Given the description of an element on the screen output the (x, y) to click on. 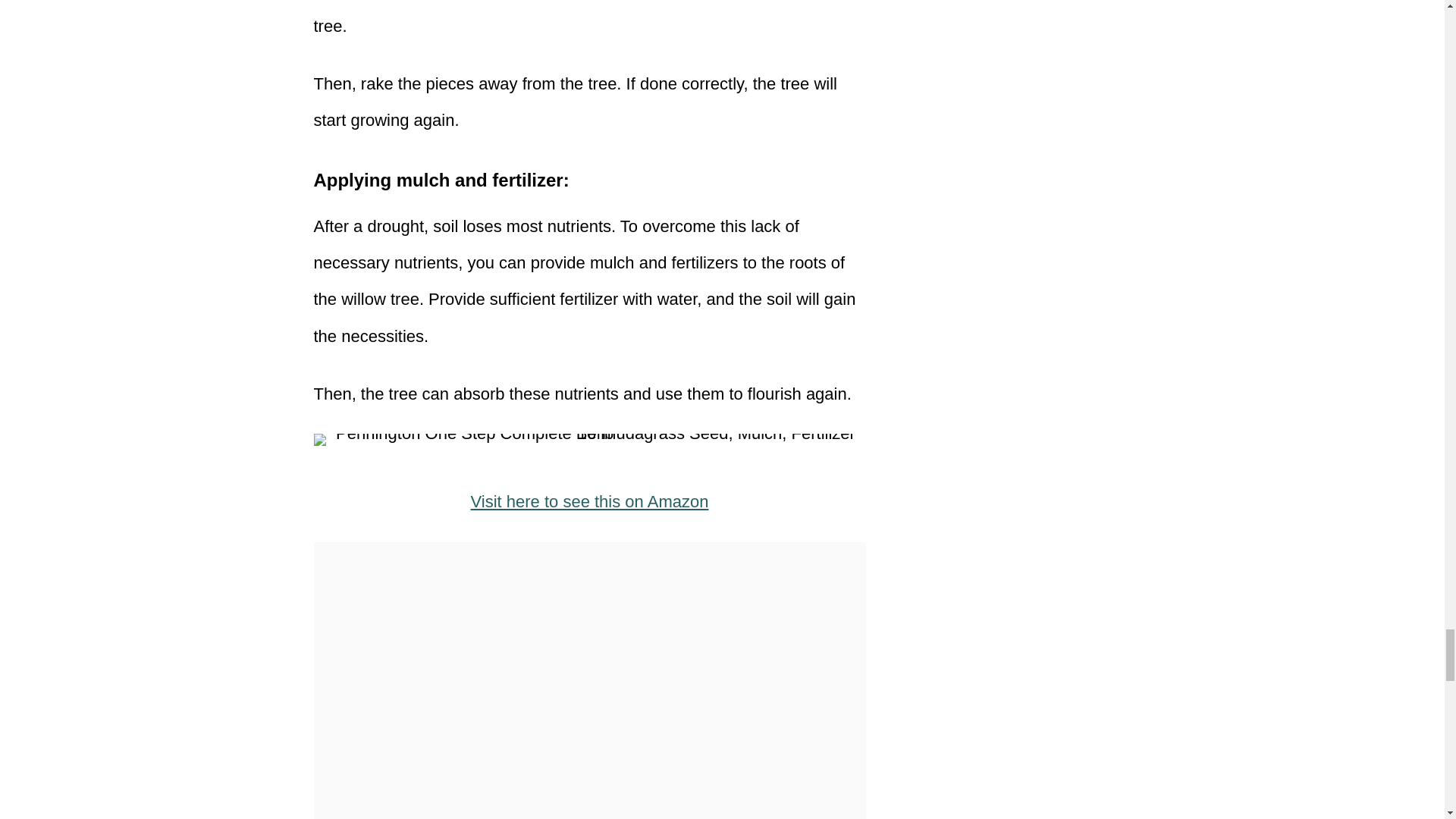
Visit here to see this on Amazon (589, 501)
